Given the description of an element on the screen output the (x, y) to click on. 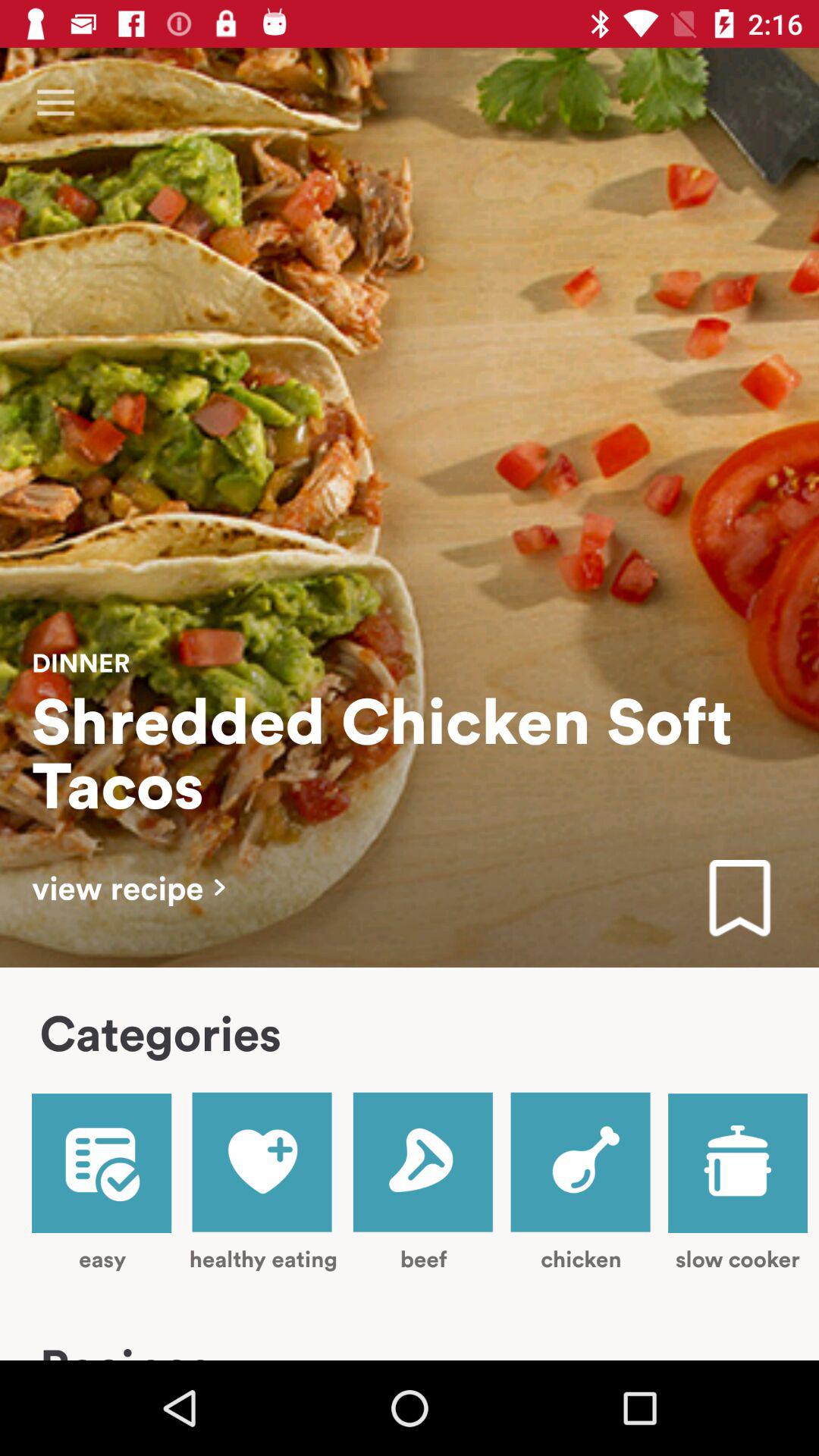
flip until the healthy eating icon (263, 1181)
